Given the description of an element on the screen output the (x, y) to click on. 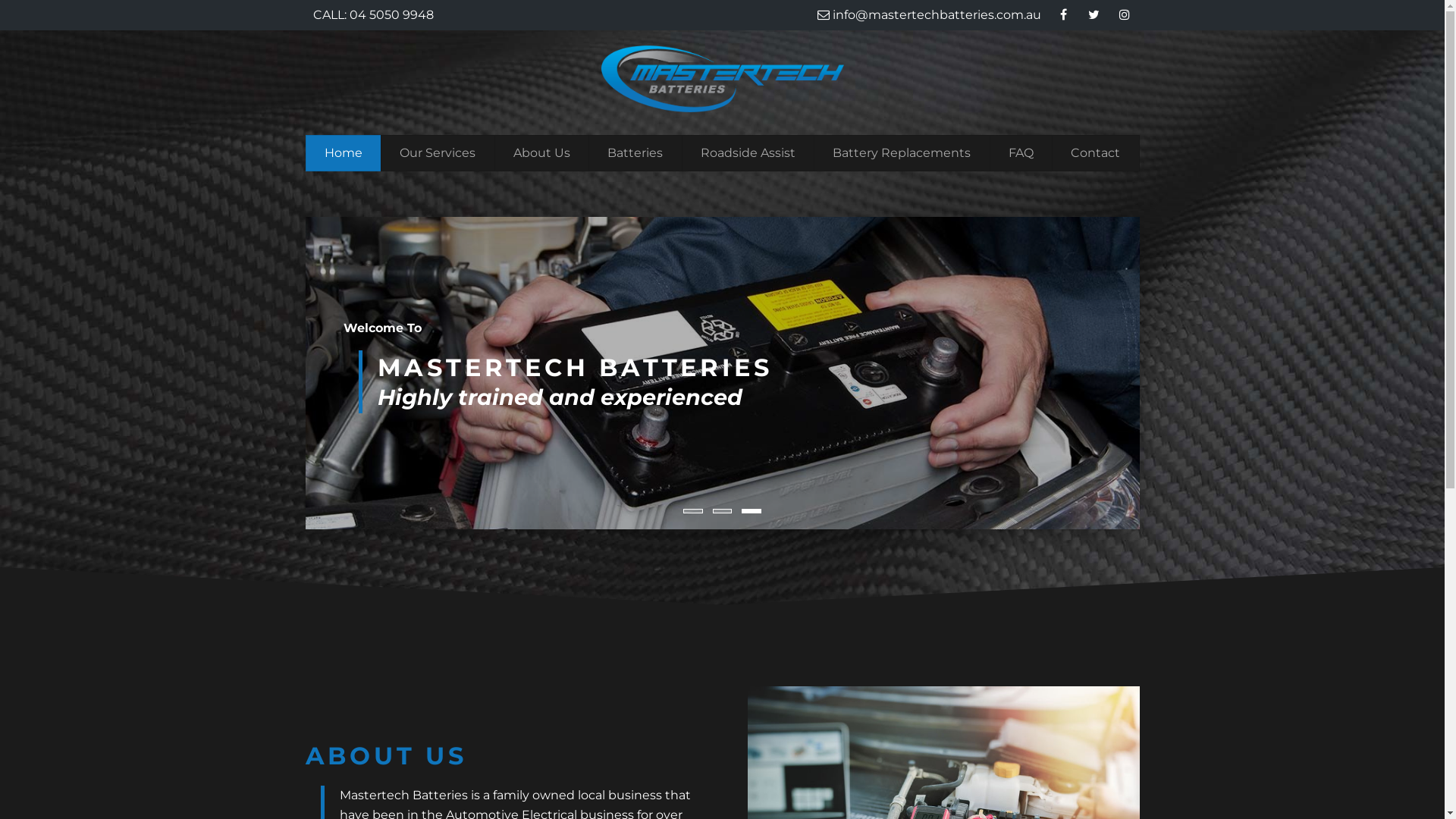
CALL: 04 5050 9948 Element type: text (372, 15)
Battery Replacements Element type: text (901, 152)
Contact Element type: text (1095, 152)
Our Services Element type: text (437, 152)
info@mastertechbatteries.com.au Element type: text (928, 15)
Roadside Assist Element type: text (746, 152)
Batteries Element type: text (634, 152)
About Us Element type: text (541, 152)
Home Element type: text (342, 152)
FAQ Element type: text (1019, 152)
